Given the description of an element on the screen output the (x, y) to click on. 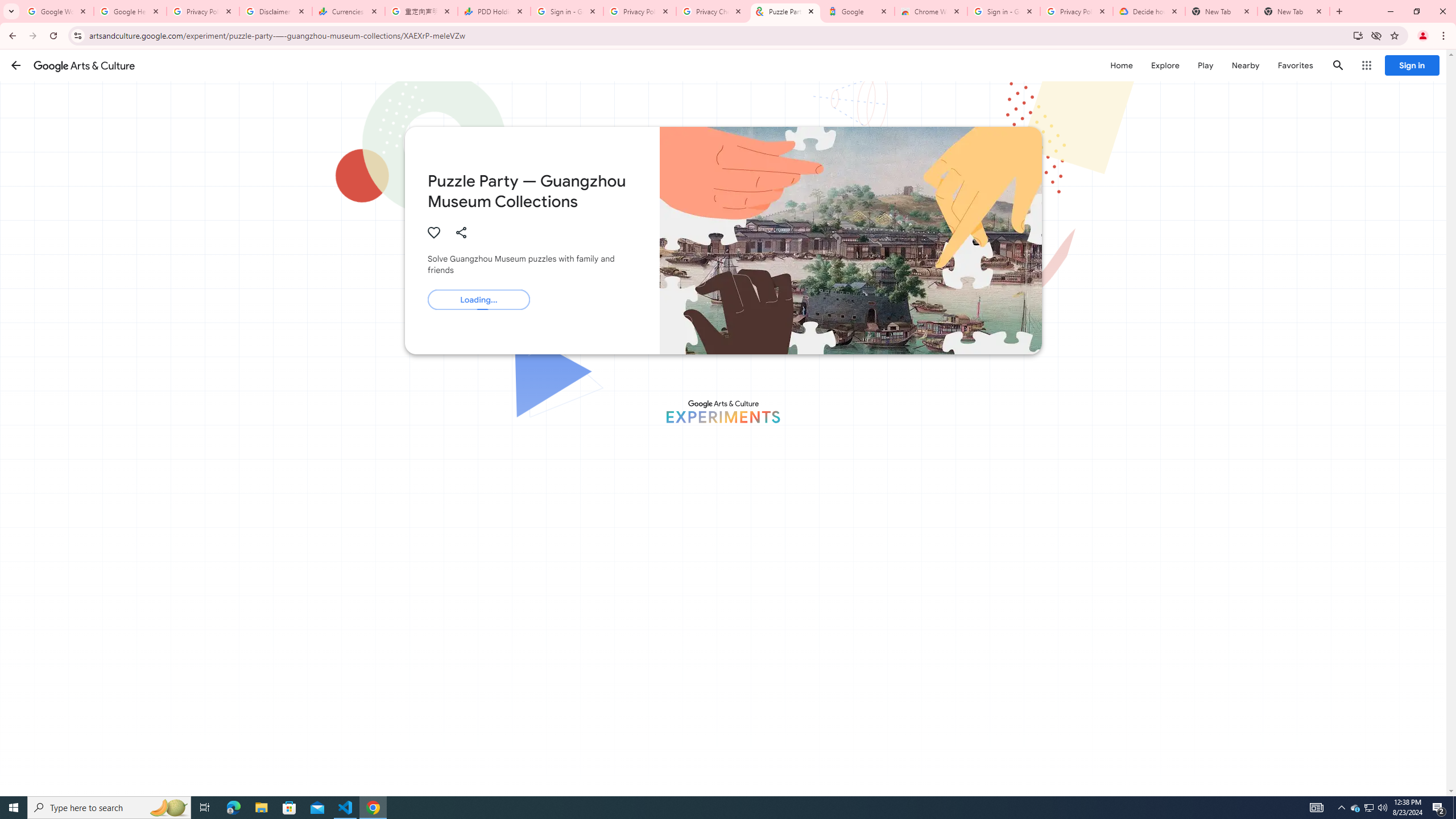
Favorites (1295, 65)
Chrome Web Store - Color themes by Chrome (930, 11)
Play (1205, 65)
PDD Holdings Inc - ADR (PDD) Price & News - Google Finance (493, 11)
Close Experiment (1423, 71)
Google Arts & Culture Experiments (722, 411)
